Given the description of an element on the screen output the (x, y) to click on. 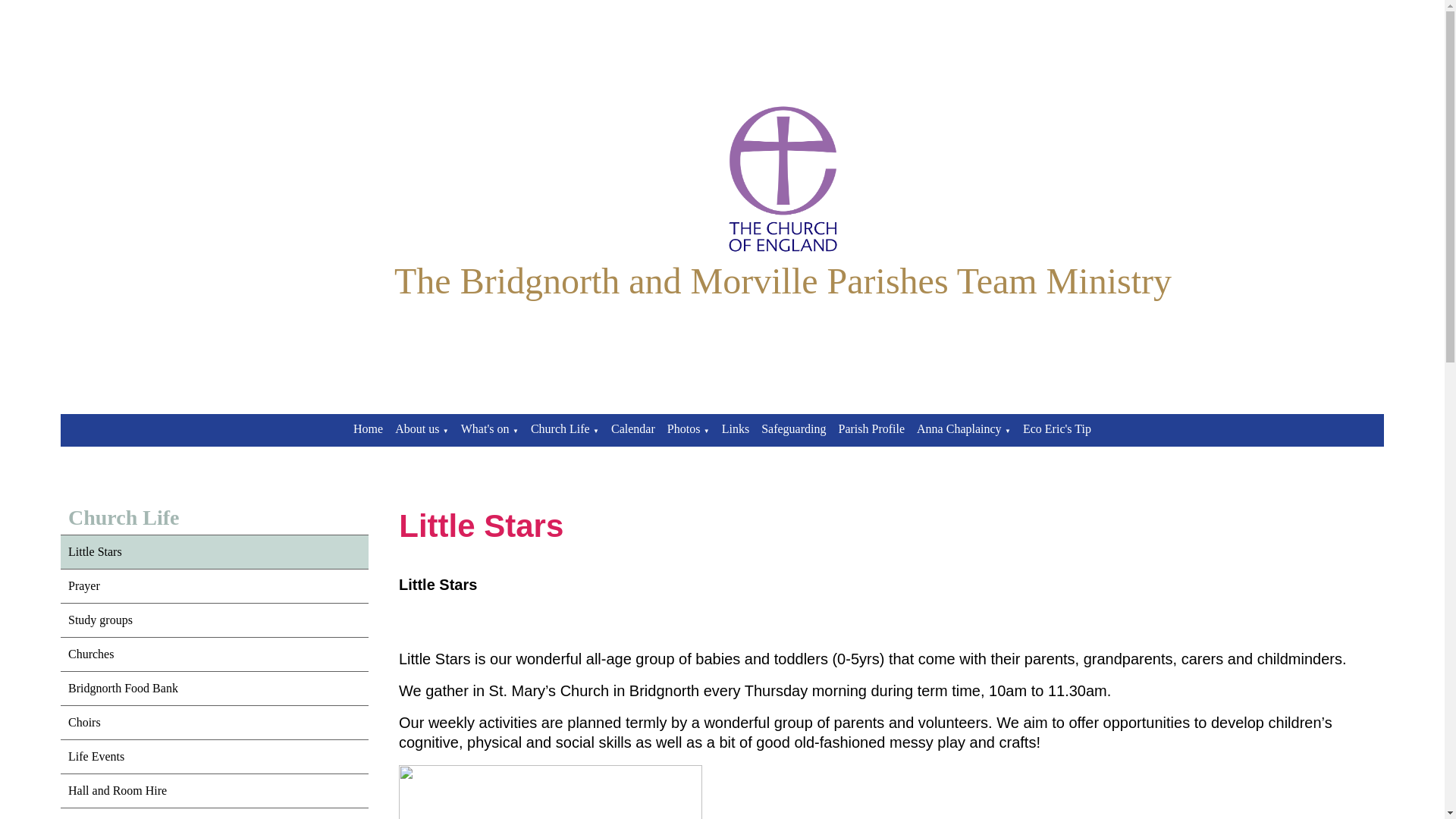
Home (367, 428)
About us (416, 428)
Church Life (560, 428)
What's on (485, 428)
